Given the description of an element on the screen output the (x, y) to click on. 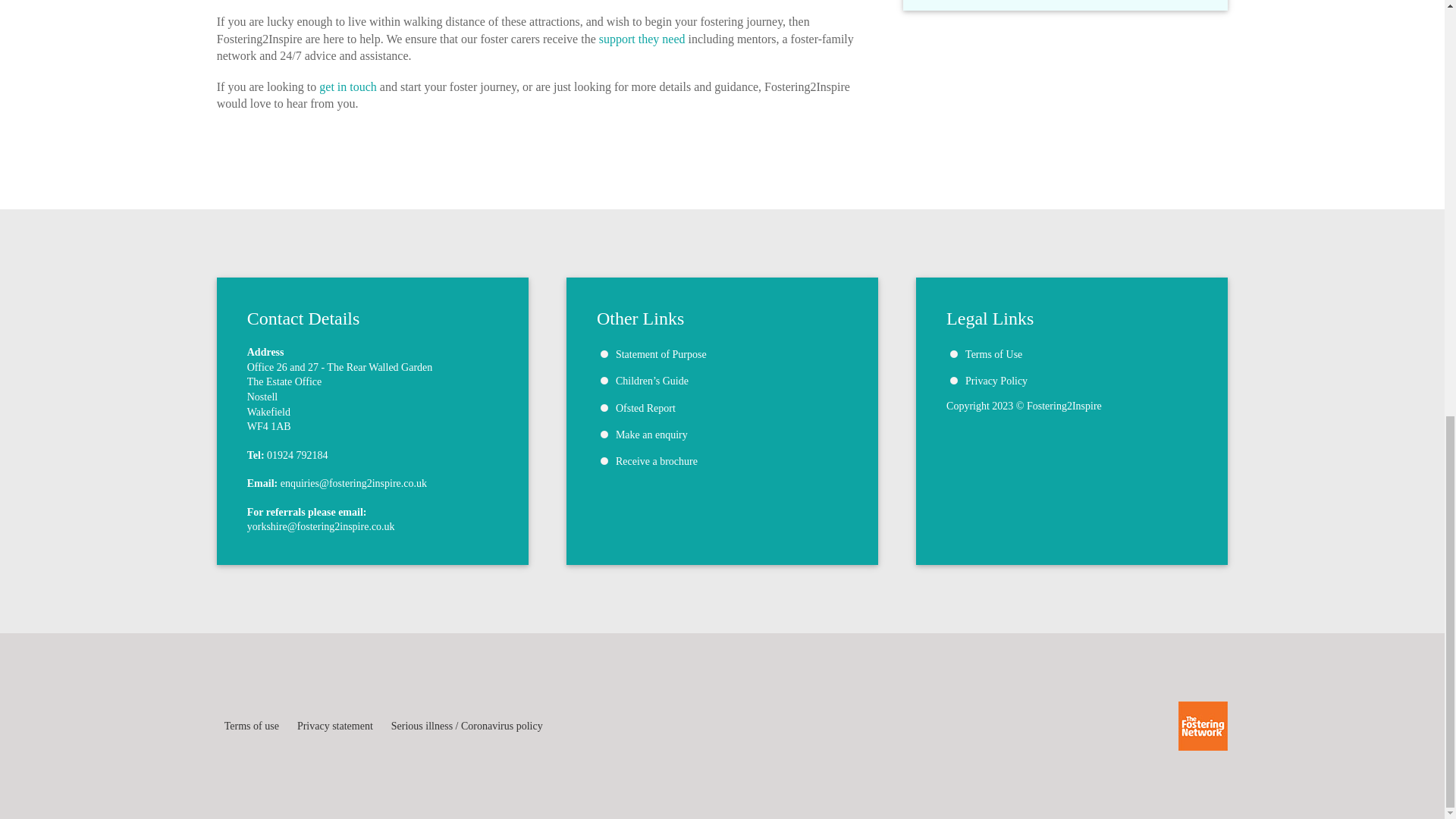
Statement of Purpose (660, 354)
Privacy Policy (996, 380)
get in touch (347, 86)
Receive a brochure (656, 460)
support they need (641, 38)
Terms of Use (993, 354)
Make an enquiry (651, 434)
Ofsted Report (645, 408)
01924 792184 (297, 455)
